Given the description of an element on the screen output the (x, y) to click on. 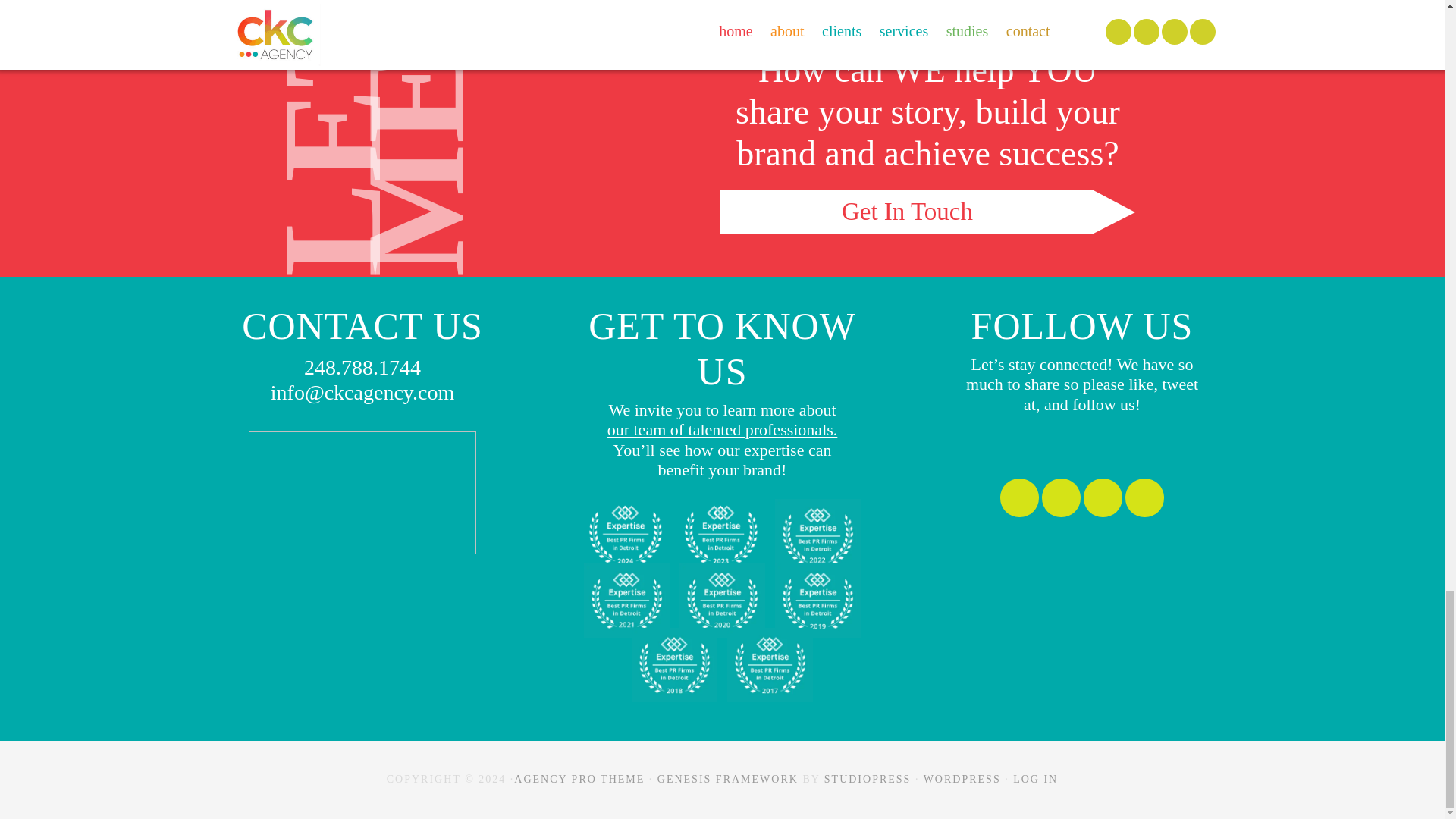
STUDIOPRESS (867, 778)
GENESIS FRAMEWORK (727, 778)
AGENCY PRO THEME (579, 778)
LOG IN (1035, 778)
WORDPRESS (962, 778)
Get In Touch (927, 211)
our team of talented professionals. (722, 429)
248.788.1744 (362, 367)
